Given the description of an element on the screen output the (x, y) to click on. 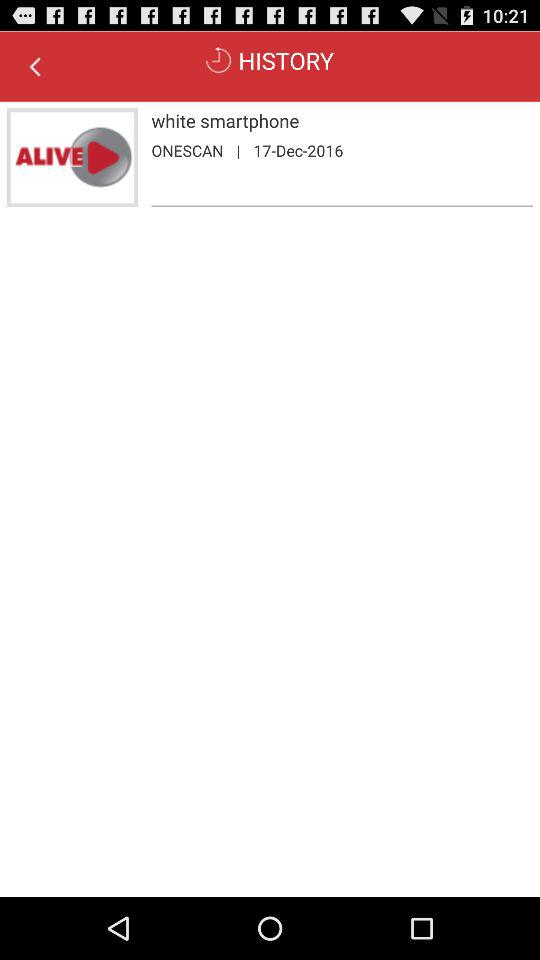
launch icon next to | item (298, 150)
